Given the description of an element on the screen output the (x, y) to click on. 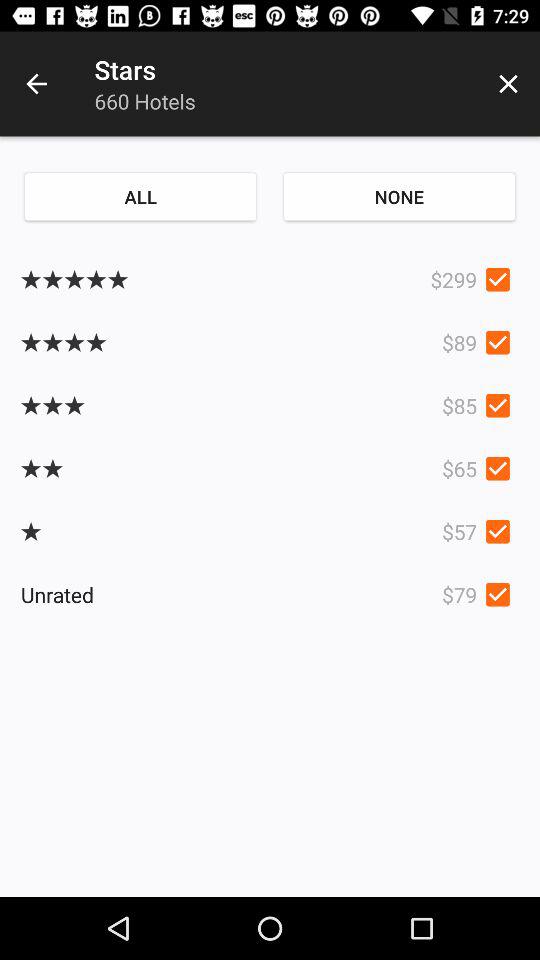
choose the item above the all icon (36, 83)
